Given the description of an element on the screen output the (x, y) to click on. 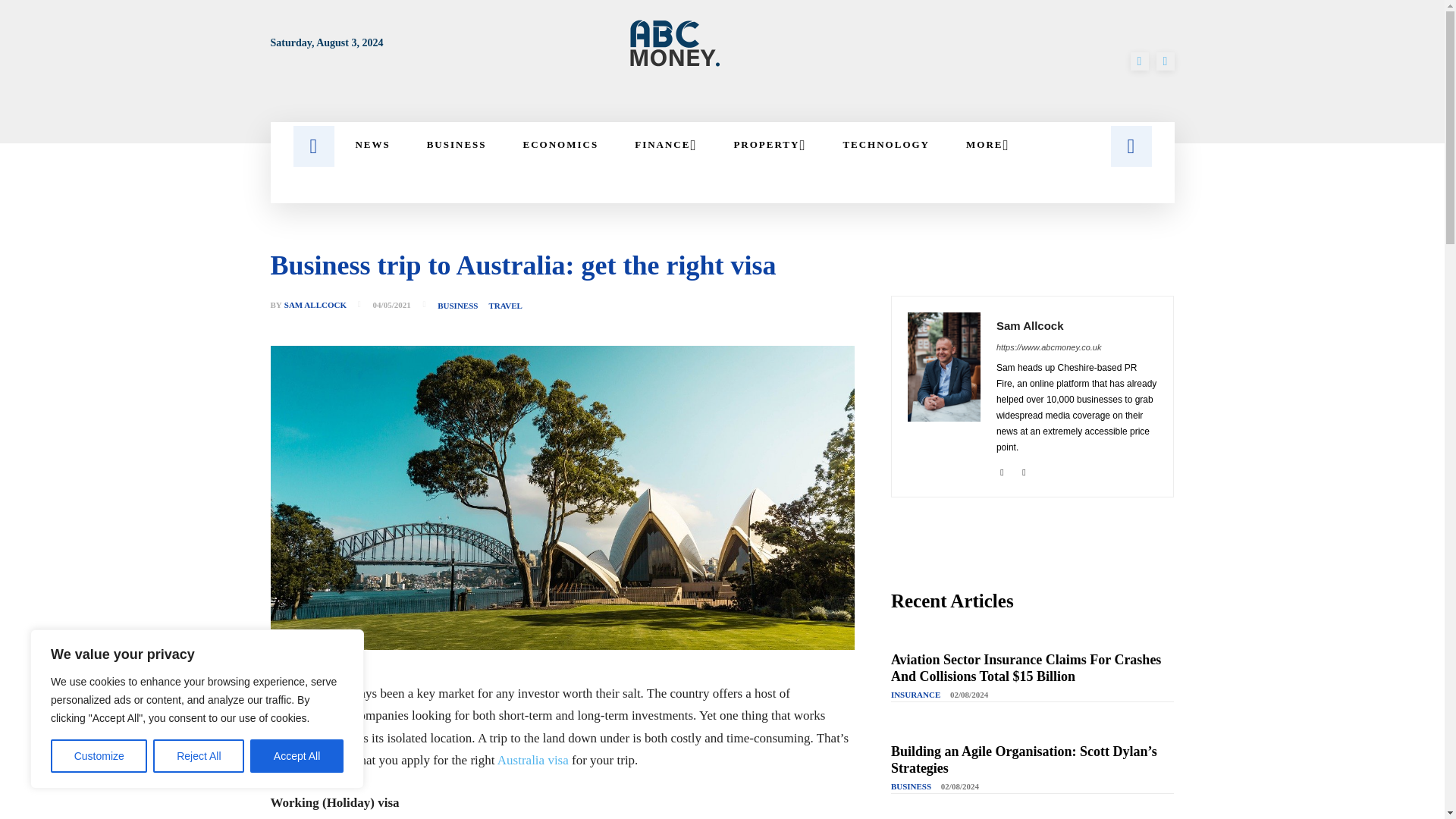
Twitter (1164, 60)
Accept All (296, 756)
Twitter (1023, 469)
PROPERTY (769, 143)
NEWS (371, 143)
Reject All (198, 756)
Facebook (1138, 60)
Customize (98, 756)
Linkedin (1001, 469)
FINANCE (664, 143)
BUSINESS (457, 143)
ECONOMICS (561, 143)
